Given the description of an element on the screen output the (x, y) to click on. 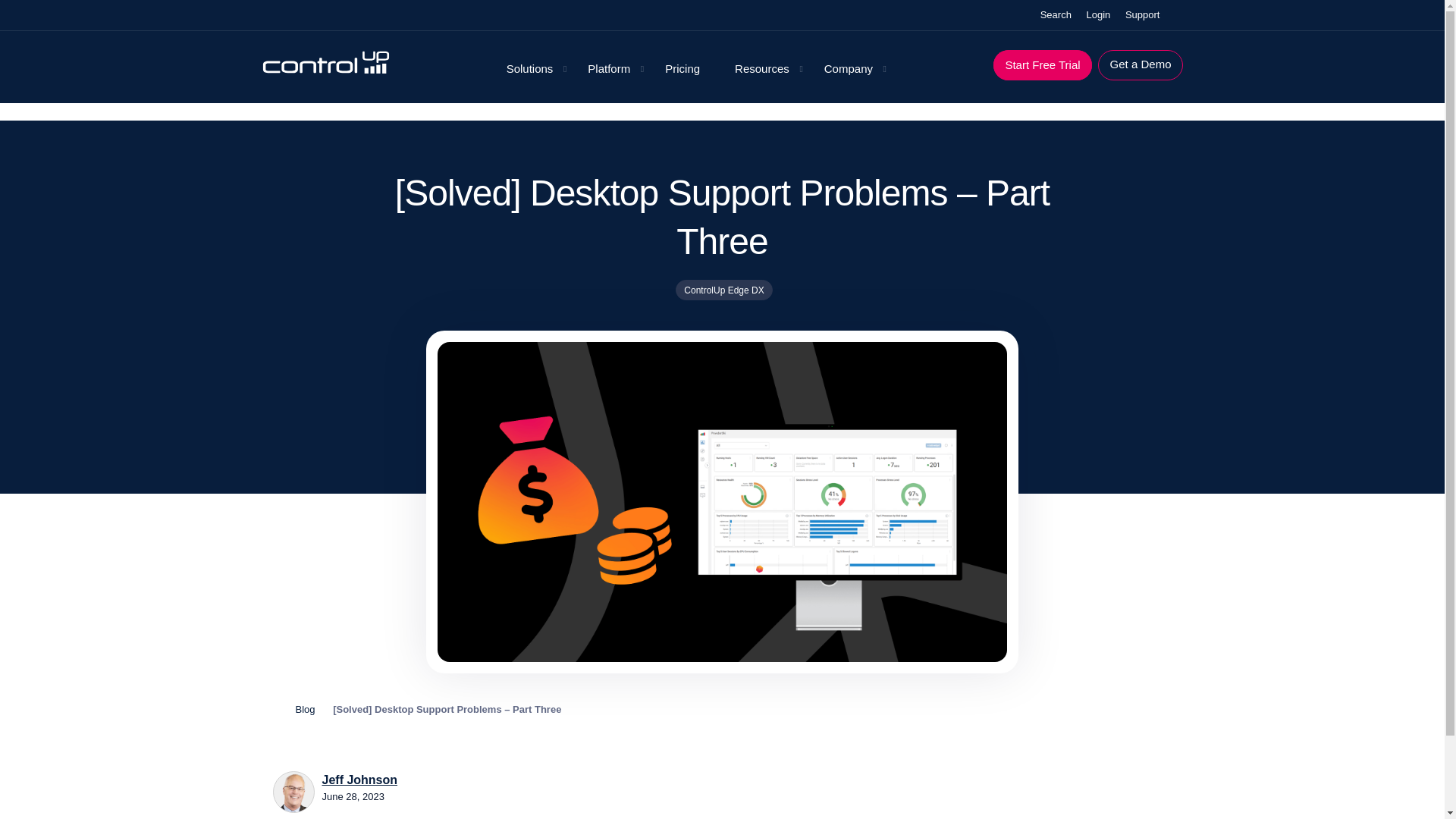
Solutions (529, 69)
Get a Demo (1140, 64)
Search (1053, 14)
Start Free Trial (1041, 64)
Platform (608, 69)
Resources (761, 69)
Login (1097, 14)
Resources (761, 69)
Support (1142, 14)
Company (848, 69)
